Given the description of an element on the screen output the (x, y) to click on. 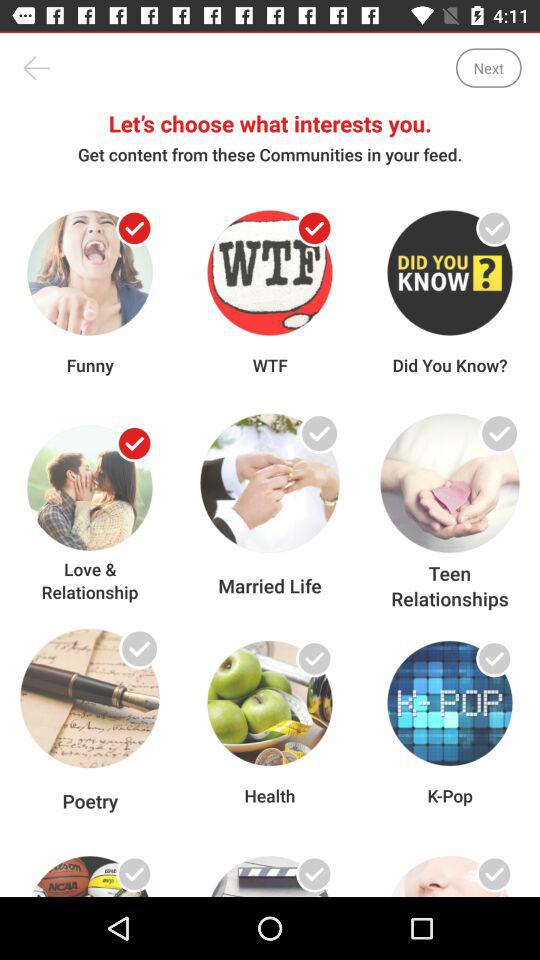
toggle select (134, 443)
